Given the description of an element on the screen output the (x, y) to click on. 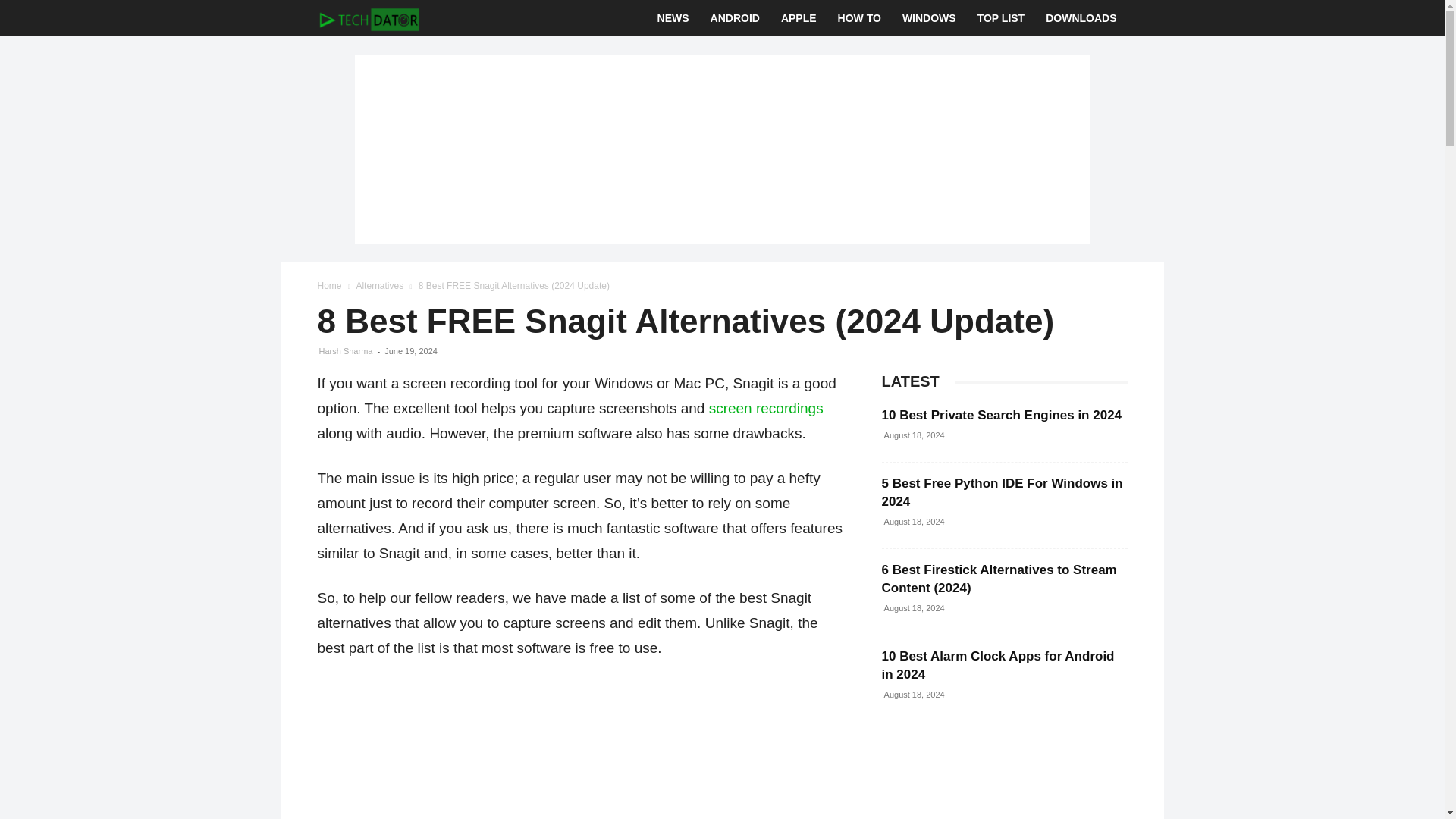
Home (328, 285)
HOW TO (859, 18)
NEWS (673, 18)
Harsh Sharma (345, 350)
TechDator (368, 18)
APPLE (798, 18)
screen recordings (766, 408)
TOP LIST (1000, 18)
WINDOWS (928, 18)
